Given the description of an element on the screen output the (x, y) to click on. 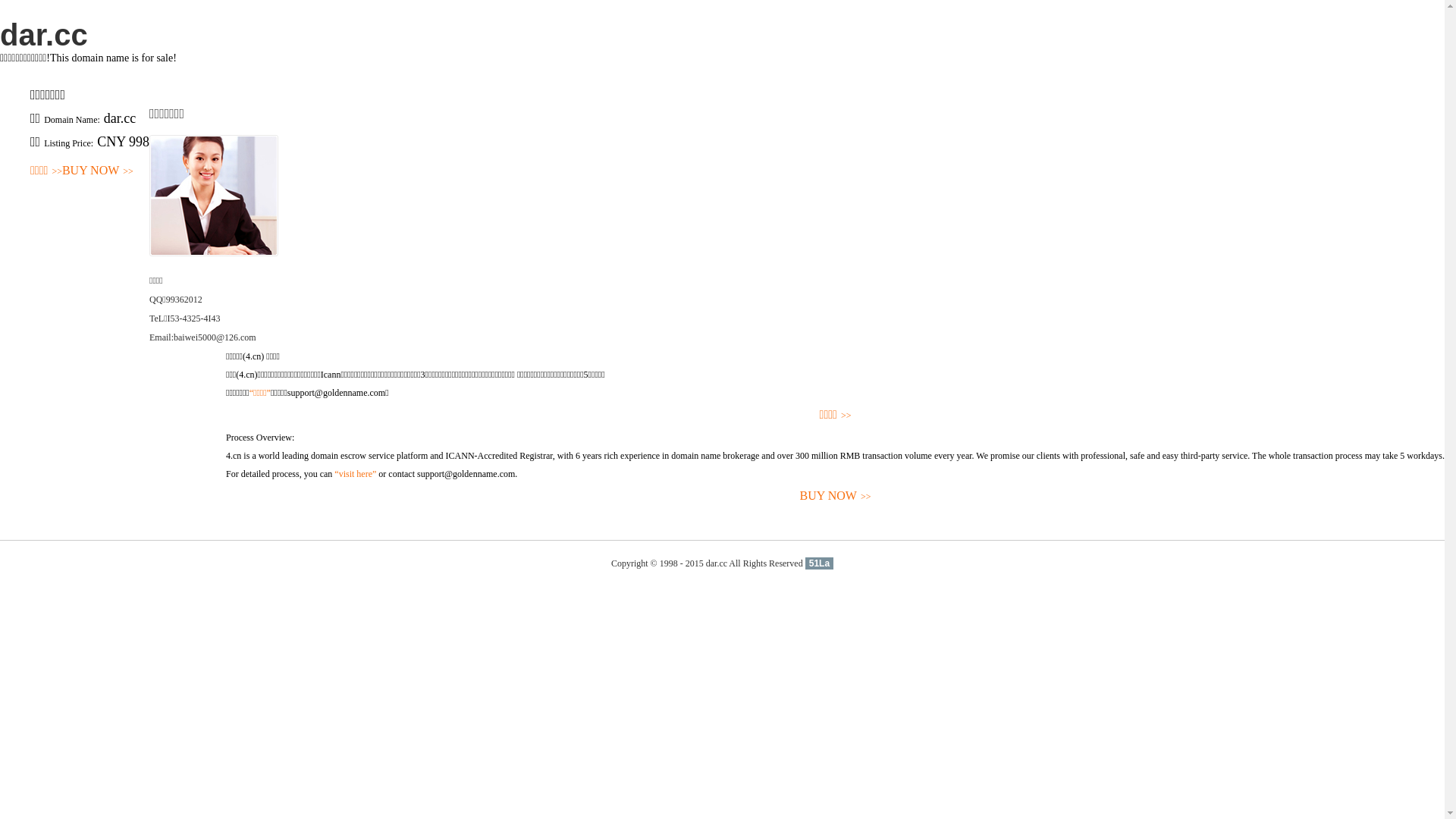
51La Element type: text (819, 563)
BUY NOW>> Element type: text (97, 170)
BUY NOW>> Element type: text (834, 496)
